Given the description of an element on the screen output the (x, y) to click on. 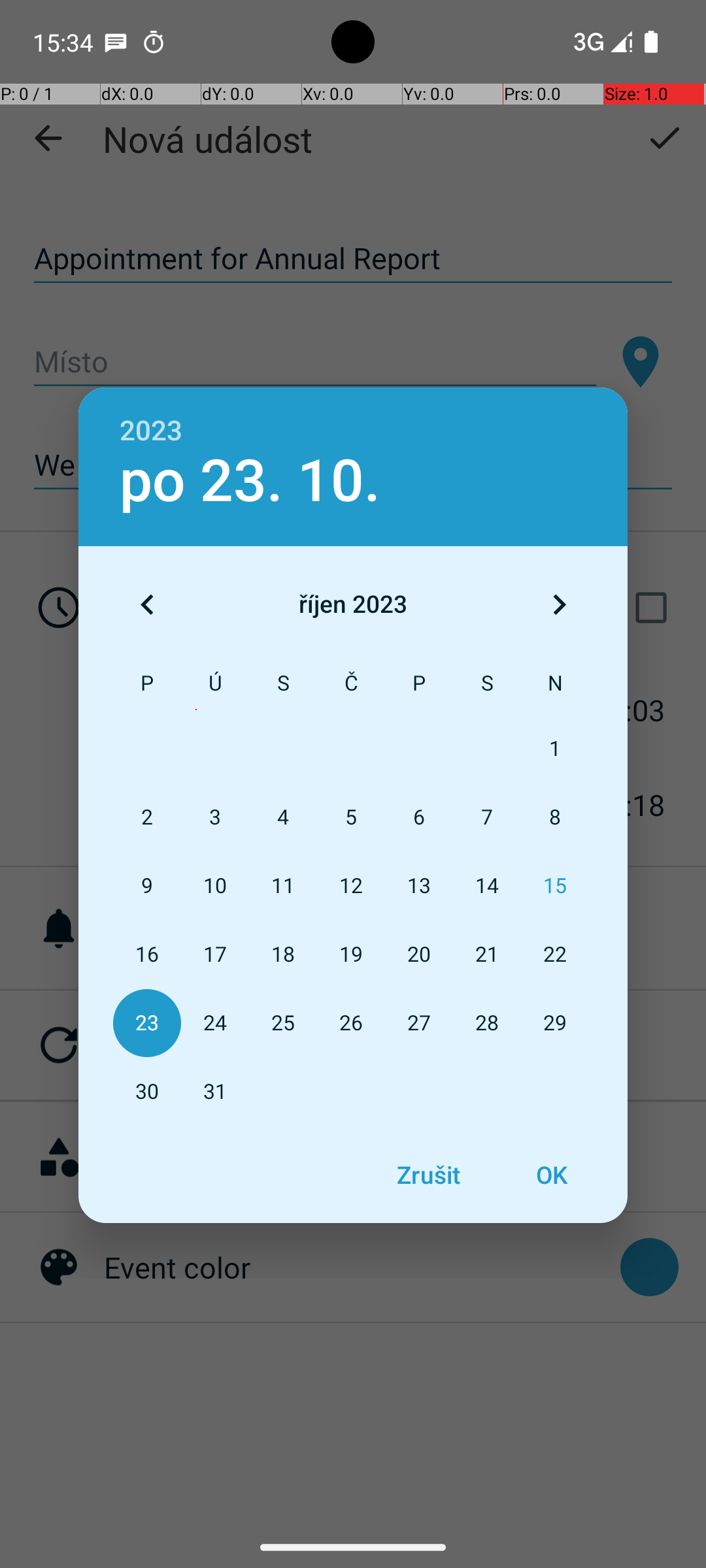
po 23. 10. Element type: android.widget.TextView (249, 480)
Předchozí měsíc Element type: android.widget.ImageButton (146, 604)
Příští měsíc Element type: android.widget.ImageButton (558, 604)
